Given the description of an element on the screen output the (x, y) to click on. 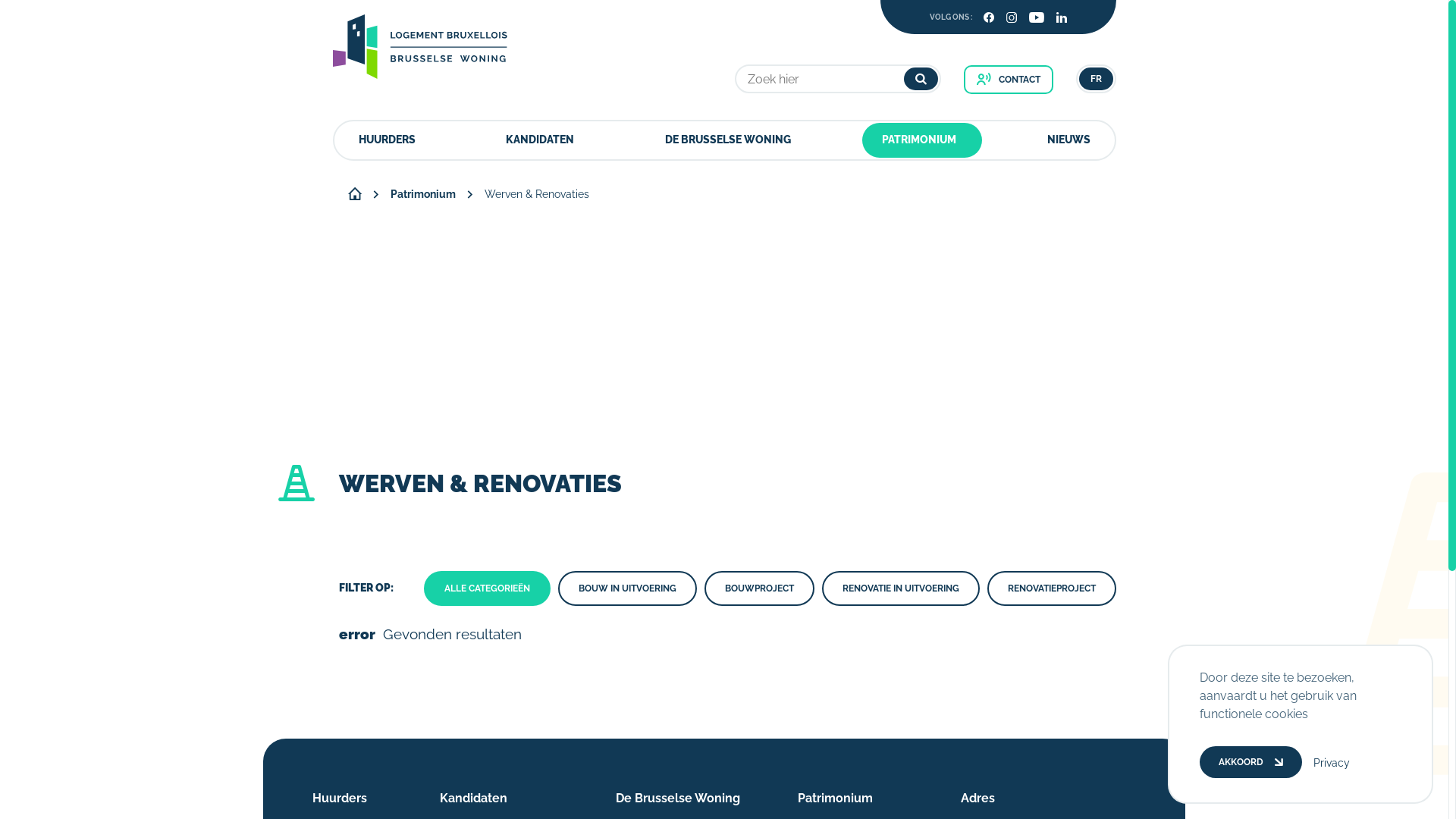
Huurders Element type: text (339, 797)
NIEUWS Element type: text (1067, 139)
BOUW IN UITVOERING Element type: text (627, 588)
Patrimonium Element type: text (834, 797)
AKKOORD Element type: text (1250, 762)
Patrimonium Element type: text (422, 193)
Privacy Element type: text (1331, 762)
HUURDERS Element type: text (386, 139)
PATRIMONIUM Element type: text (919, 139)
CONTACT Element type: text (1007, 79)
KANDIDATEN Element type: text (539, 139)
RENOVATIE IN UITVOERING Element type: text (900, 588)
DE BRUSSELSE WONING Element type: text (727, 139)
Kandidaten Element type: text (473, 797)
Adres Element type: text (977, 797)
FR Element type: text (1095, 78)
BOUWPROJECT Element type: text (759, 588)
De Brusselse Woning Element type: text (677, 797)
RENOVATIEPROJECT Element type: text (1051, 588)
